Given the description of an element on the screen output the (x, y) to click on. 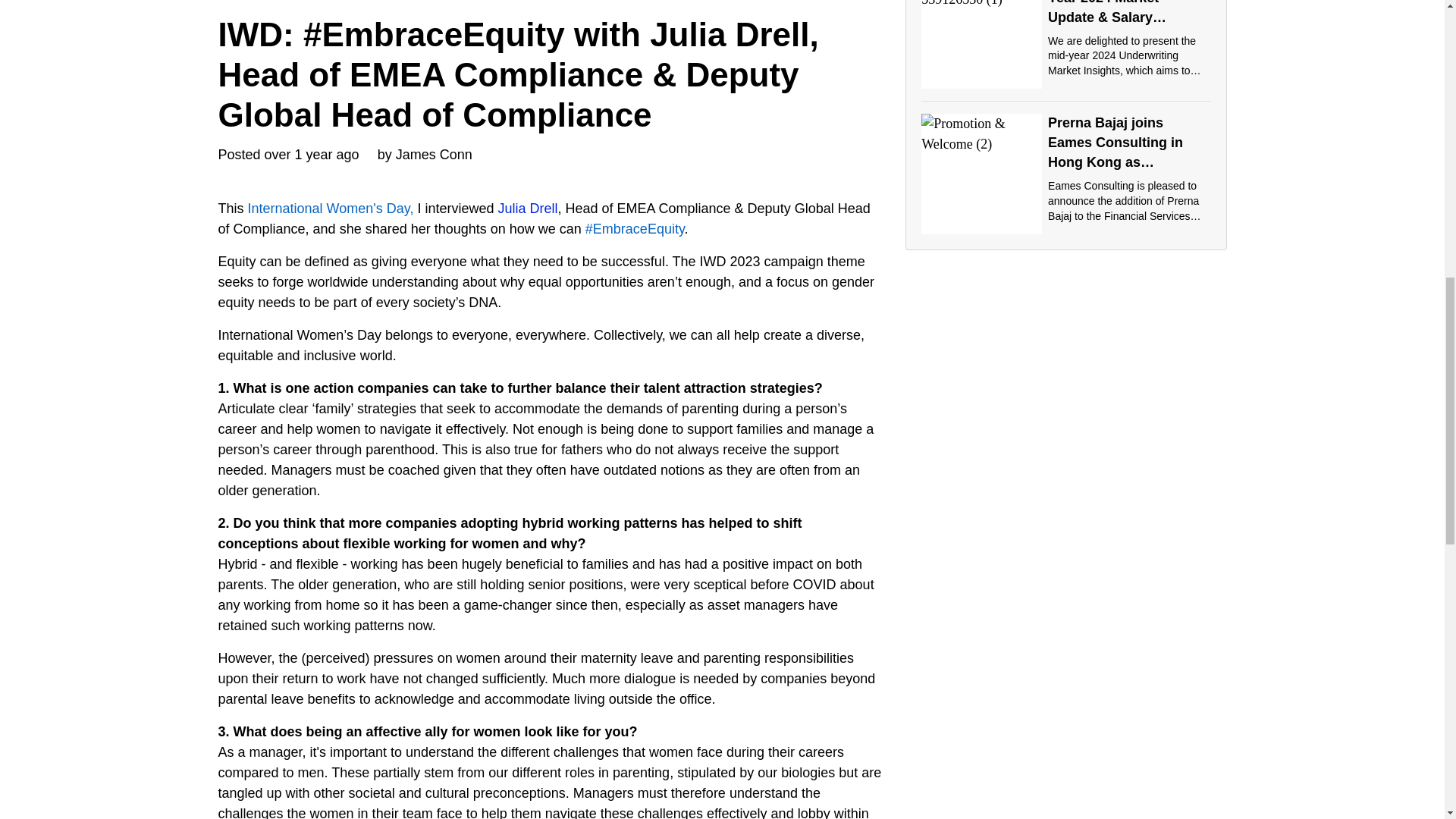
Julia Drell (527, 208)
International Women's Day, (330, 208)
